Given the description of an element on the screen output the (x, y) to click on. 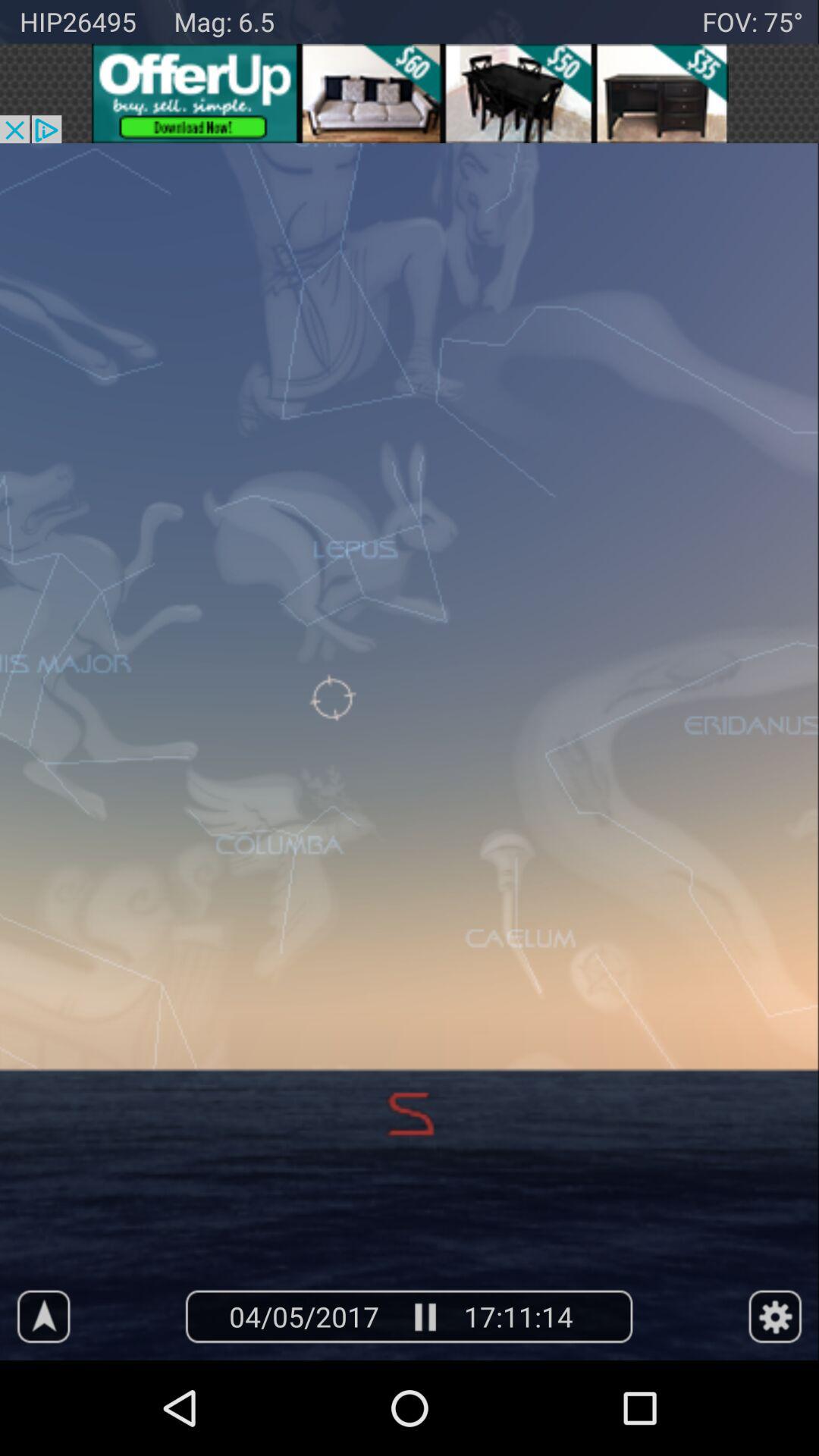
settings (775, 1316)
